Given the description of an element on the screen output the (x, y) to click on. 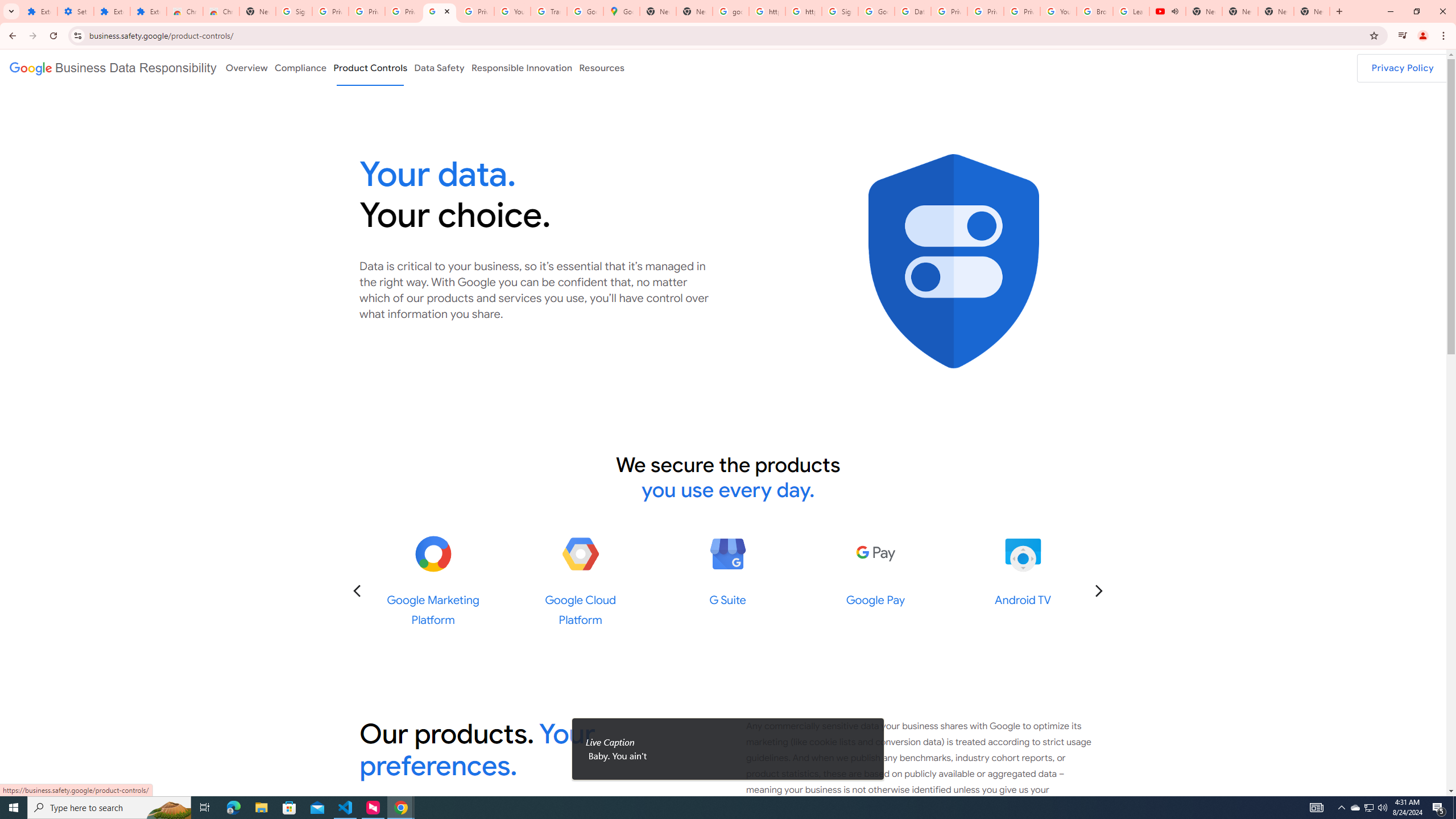
G Suite (727, 554)
Address and search bar (725, 35)
Chrome Web Store (184, 11)
Sign in - Google Accounts (839, 11)
Go to the previous slide (357, 590)
Settings (75, 11)
https://scholar.google.com/ (803, 11)
Sign in - Google Accounts (293, 11)
Google Pay Google Pay (874, 570)
Privacy Policy (1402, 68)
